Given the description of an element on the screen output the (x, y) to click on. 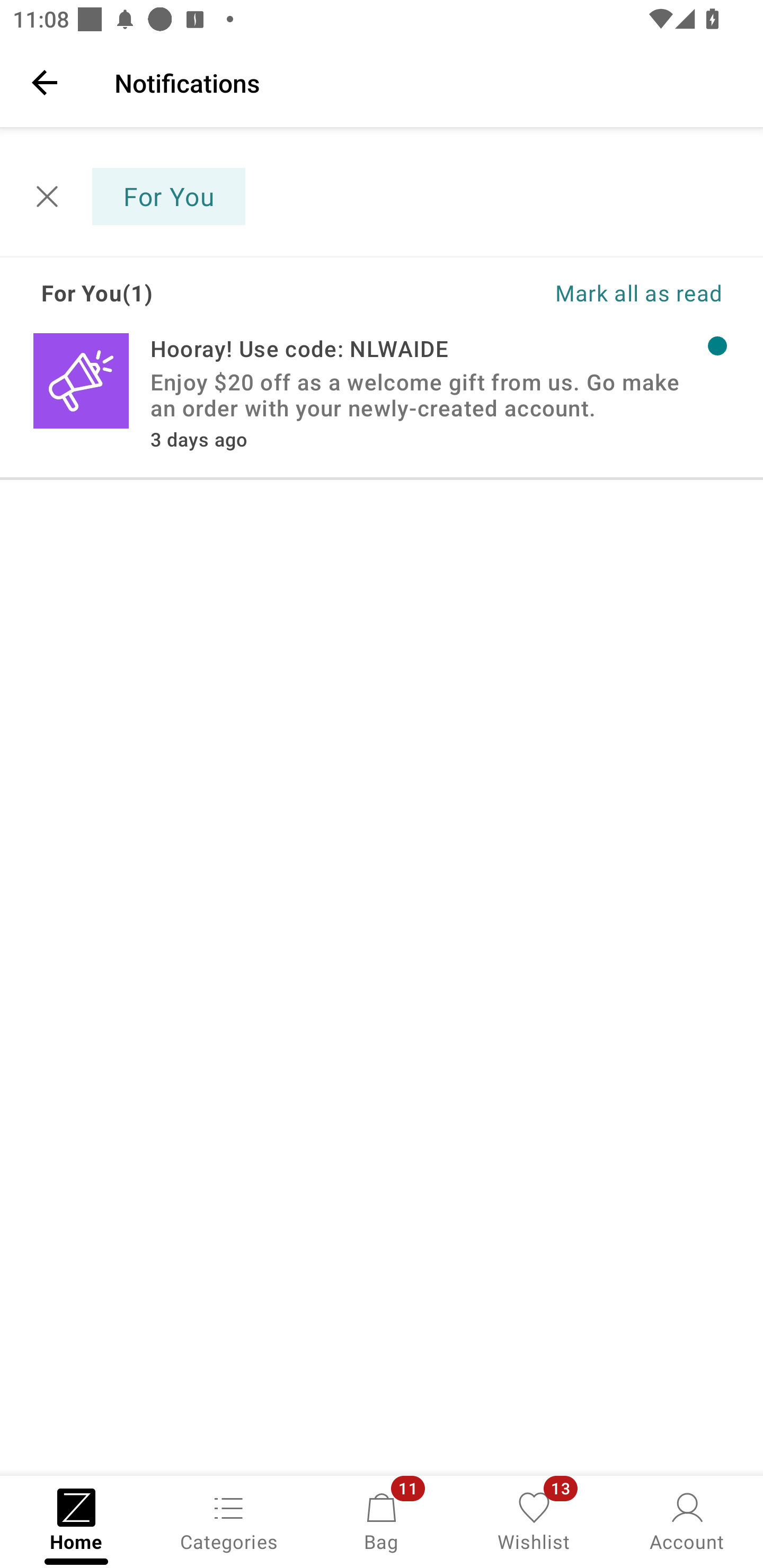
Navigate up (44, 82)
Notifications (426, 82)
For You (138, 196)
Categories (228, 1519)
Bag, 11 new notifications Bag (381, 1519)
Wishlist, 13 new notifications Wishlist (533, 1519)
Account (686, 1519)
